Given the description of an element on the screen output the (x, y) to click on. 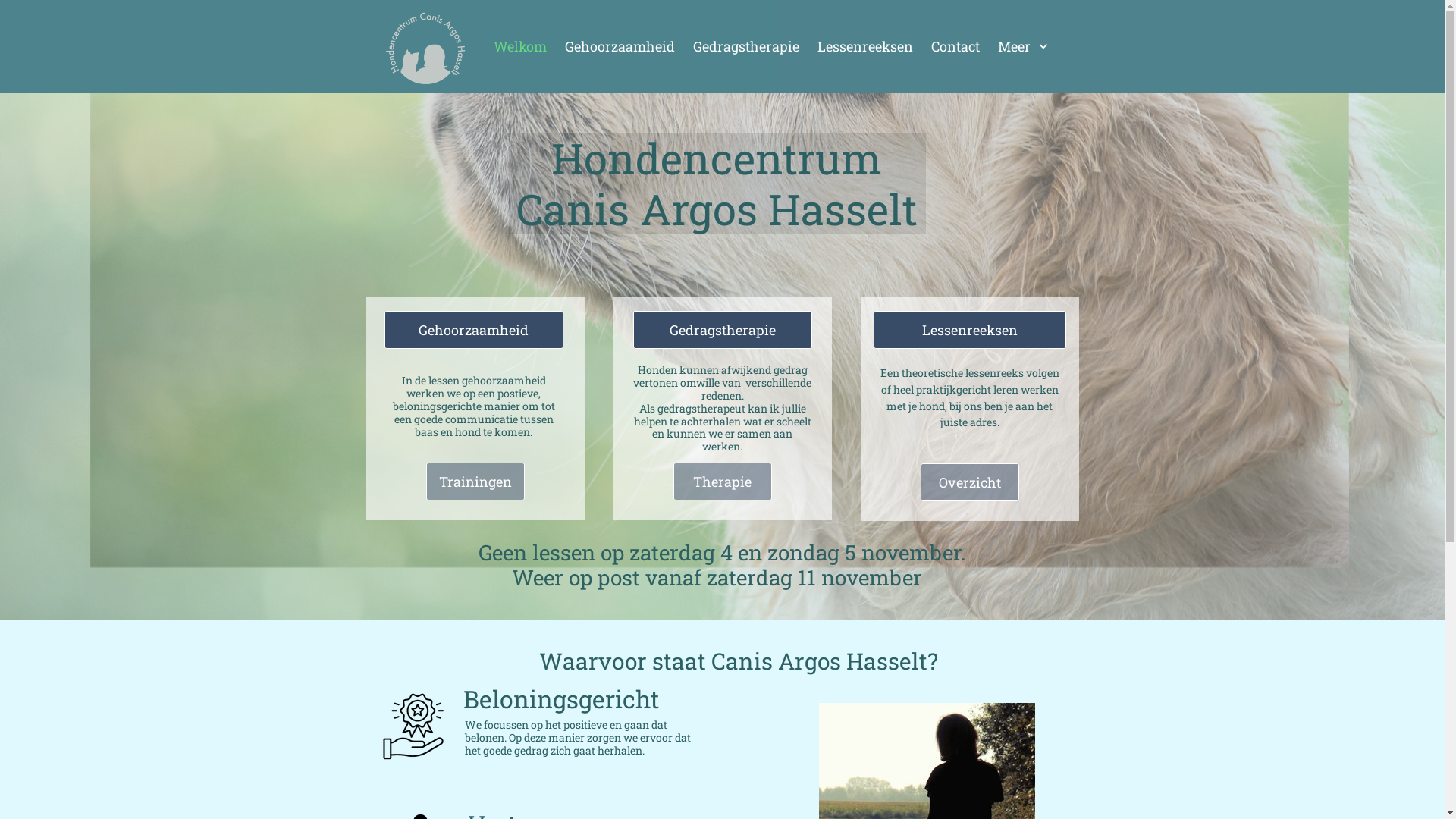
Contact Element type: text (955, 46)
Gedragstherapie Element type: text (722, 329)
Gedragstherapie Element type: text (746, 46)
Therapie Element type: text (721, 481)
Lessenreeksen Element type: text (968, 329)
Trainingen Element type: text (474, 481)
Lessenreeksen Element type: text (865, 46)
Gehoorzaamheid Element type: text (619, 46)
Gehoorzaamheid Element type: text (473, 329)
Welkom Element type: text (519, 46)
Overzicht Element type: text (968, 482)
Meer Element type: text (1024, 46)
